Given the description of an element on the screen output the (x, y) to click on. 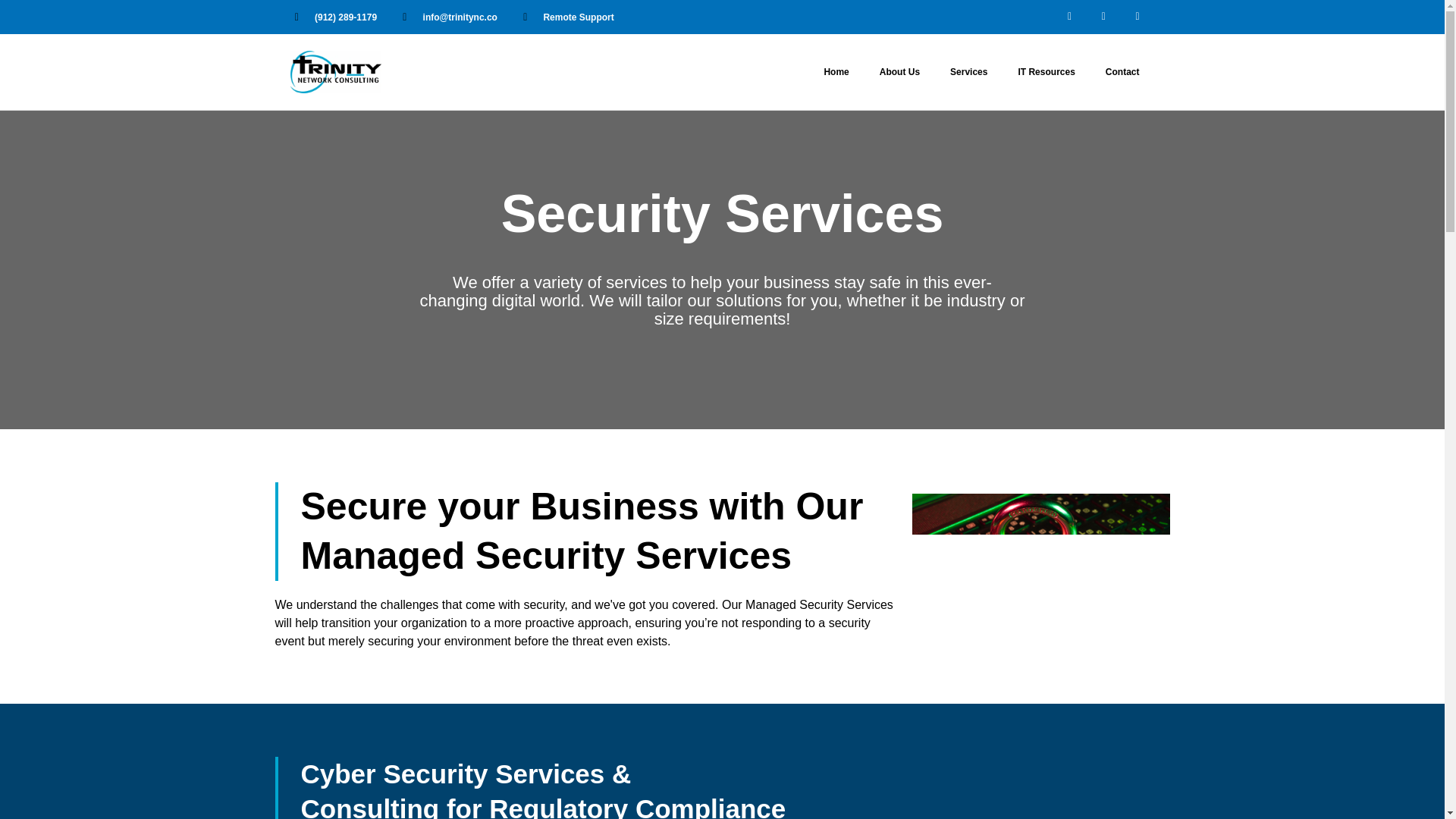
Linkedin (1137, 17)
Remote Support (566, 16)
Google-plus-g (1103, 17)
Services (968, 71)
About Us (899, 71)
Facebook-f (1069, 17)
IT Resources (1046, 71)
